Given the description of an element on the screen output the (x, y) to click on. 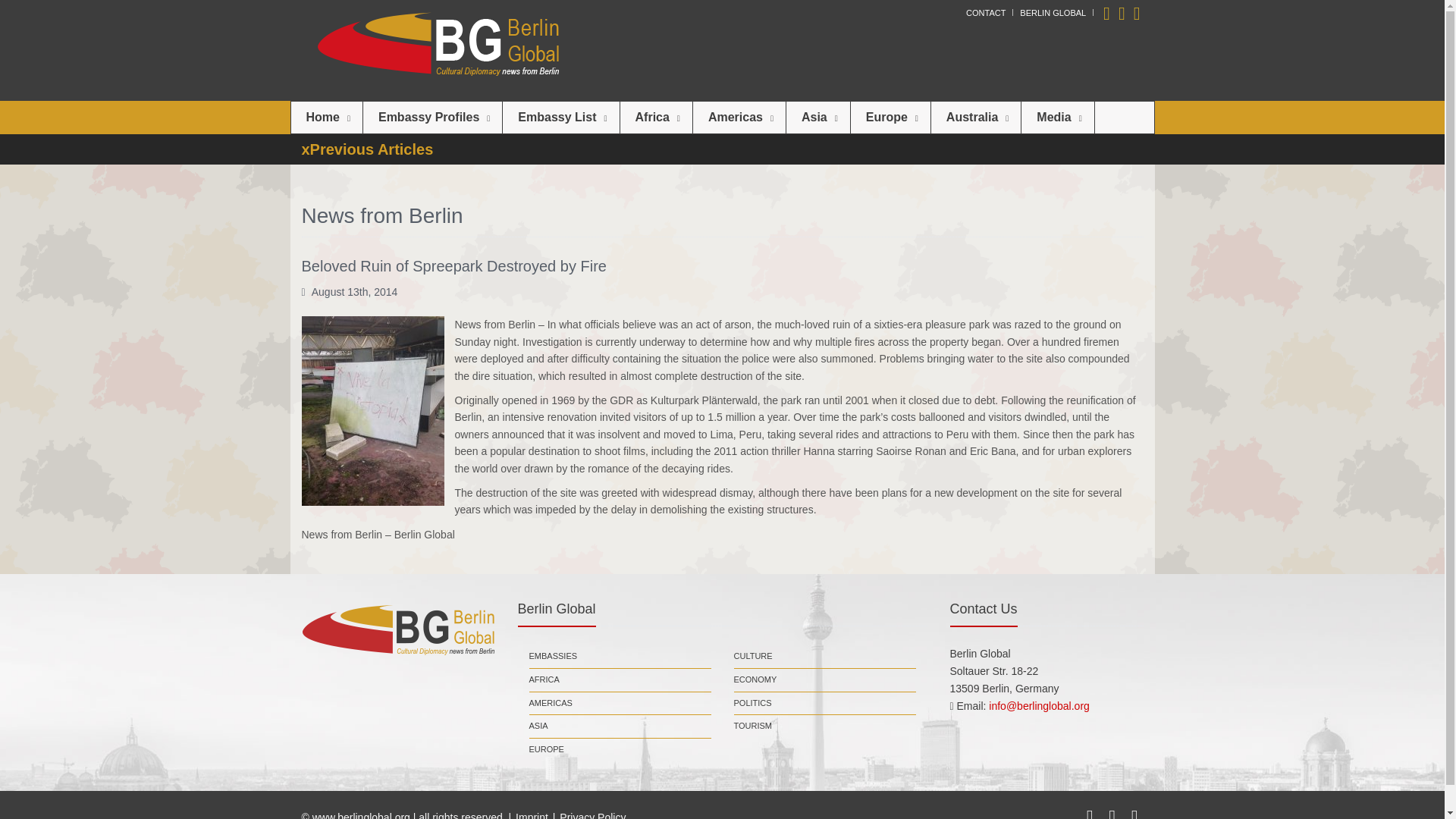
Embassy List (560, 116)
Embassy Profiles (432, 116)
Asia (818, 116)
CONTACT (986, 12)
Media (1057, 116)
Youtube (1107, 12)
EUROPE (546, 749)
Home (326, 116)
POLITICS (752, 703)
Africa (656, 116)
